Given the description of an element on the screen output the (x, y) to click on. 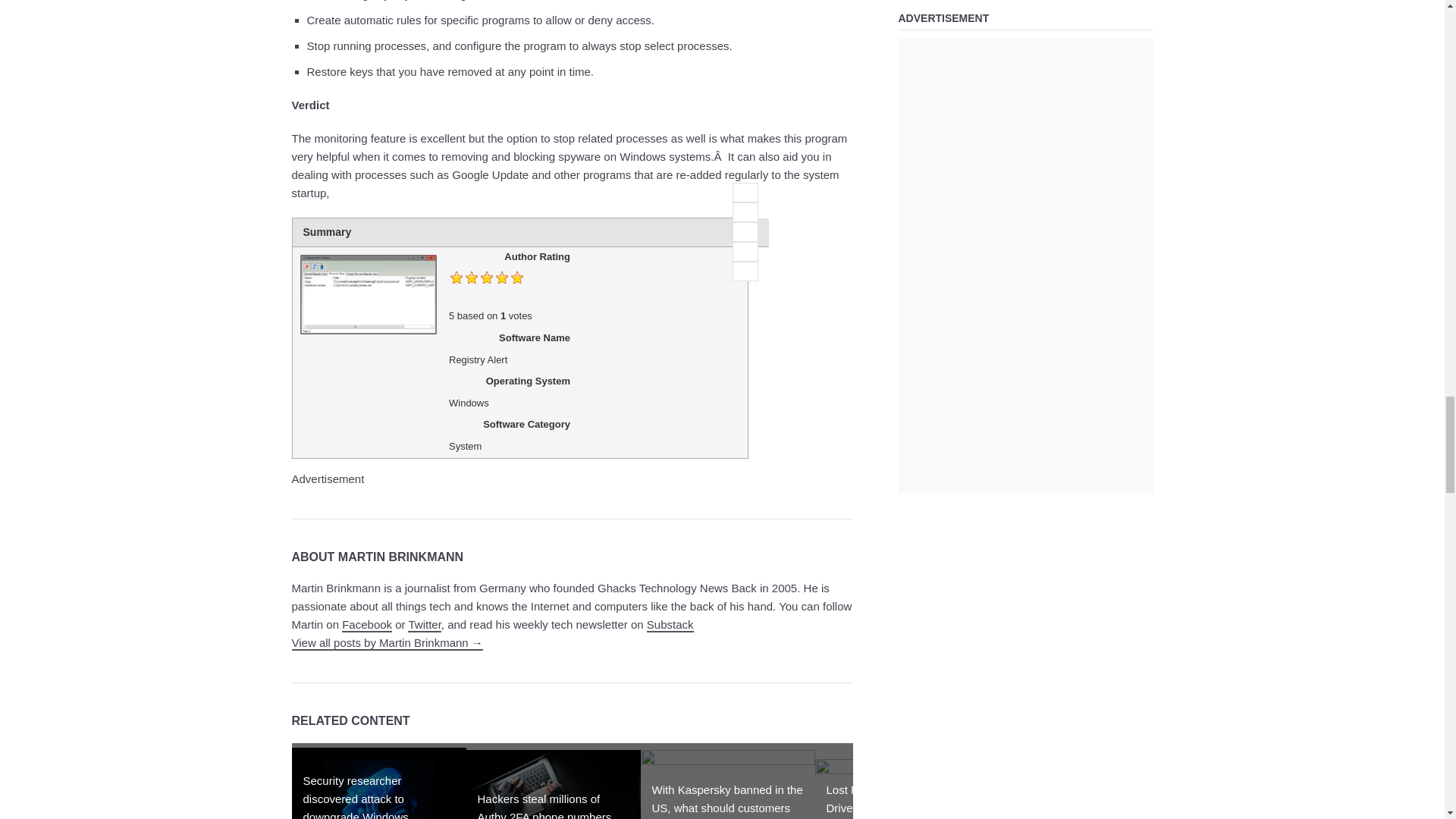
5 (745, 271)
2 (745, 211)
1 (745, 192)
3 (745, 231)
4 (745, 251)
